Given the description of an element on the screen output the (x, y) to click on. 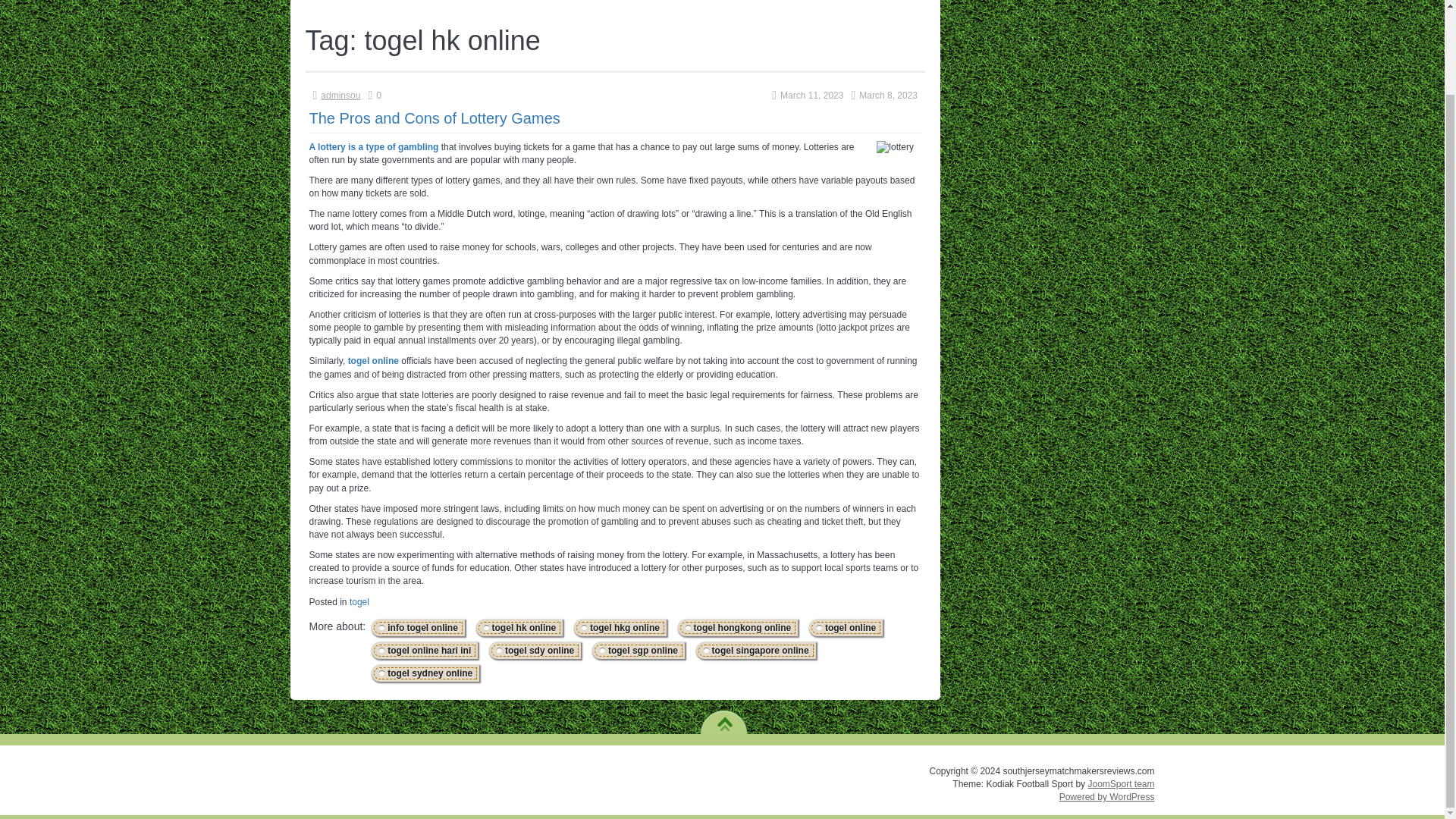
The Pros and Cons of Lottery Games (434, 117)
togel online hari ini (425, 650)
togel singapore online (755, 650)
info togel online (418, 627)
togel hkg online (619, 627)
JoomSport team (1120, 783)
A lottery is a type of gambling (373, 146)
togel online (372, 360)
adminsou (339, 95)
togel hk online (519, 627)
